Given the description of an element on the screen output the (x, y) to click on. 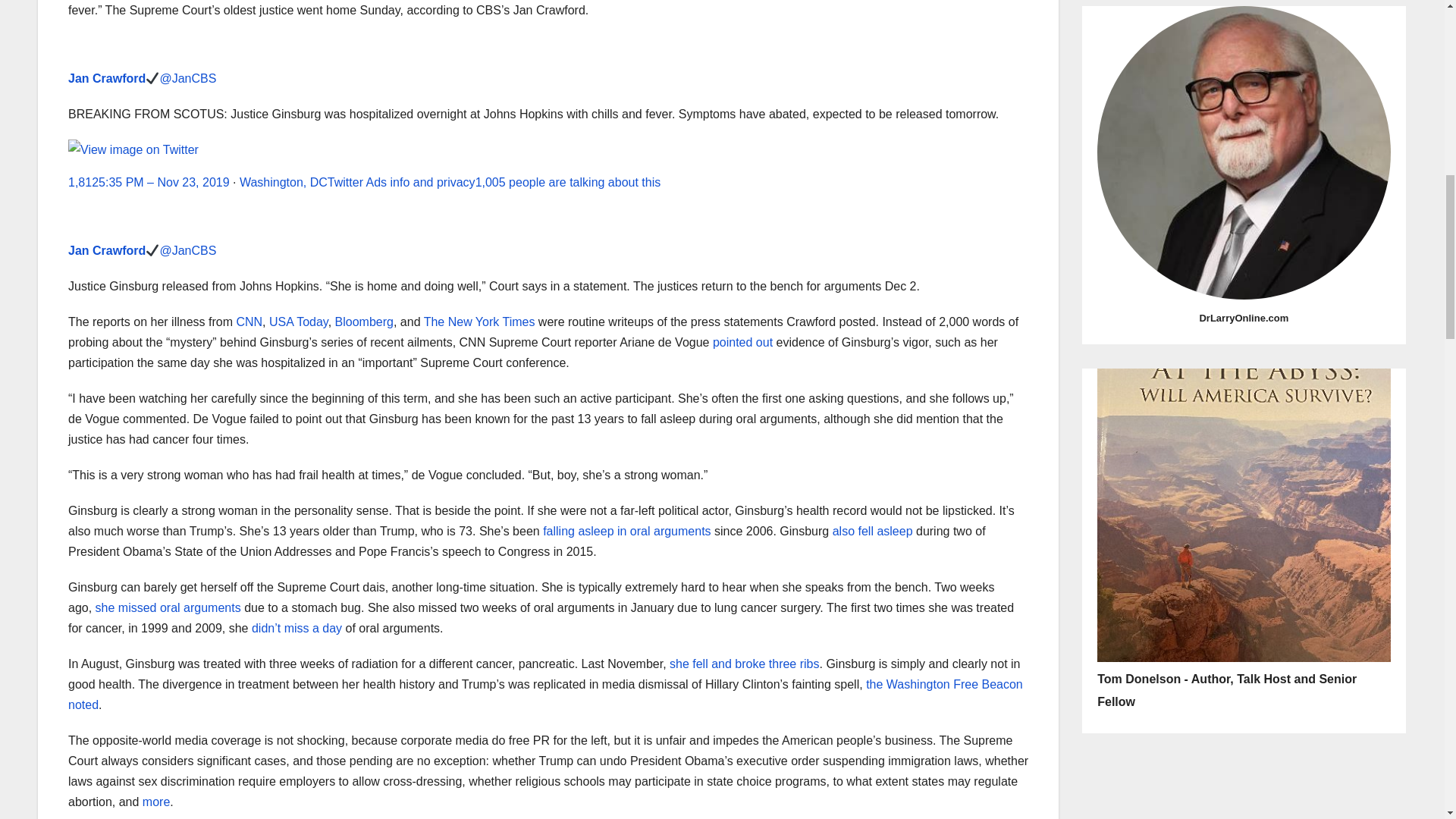
1,812 (83, 182)
Washington, DC (283, 182)
Twitter Ads info and privacy (401, 182)
